Given the description of an element on the screen output the (x, y) to click on. 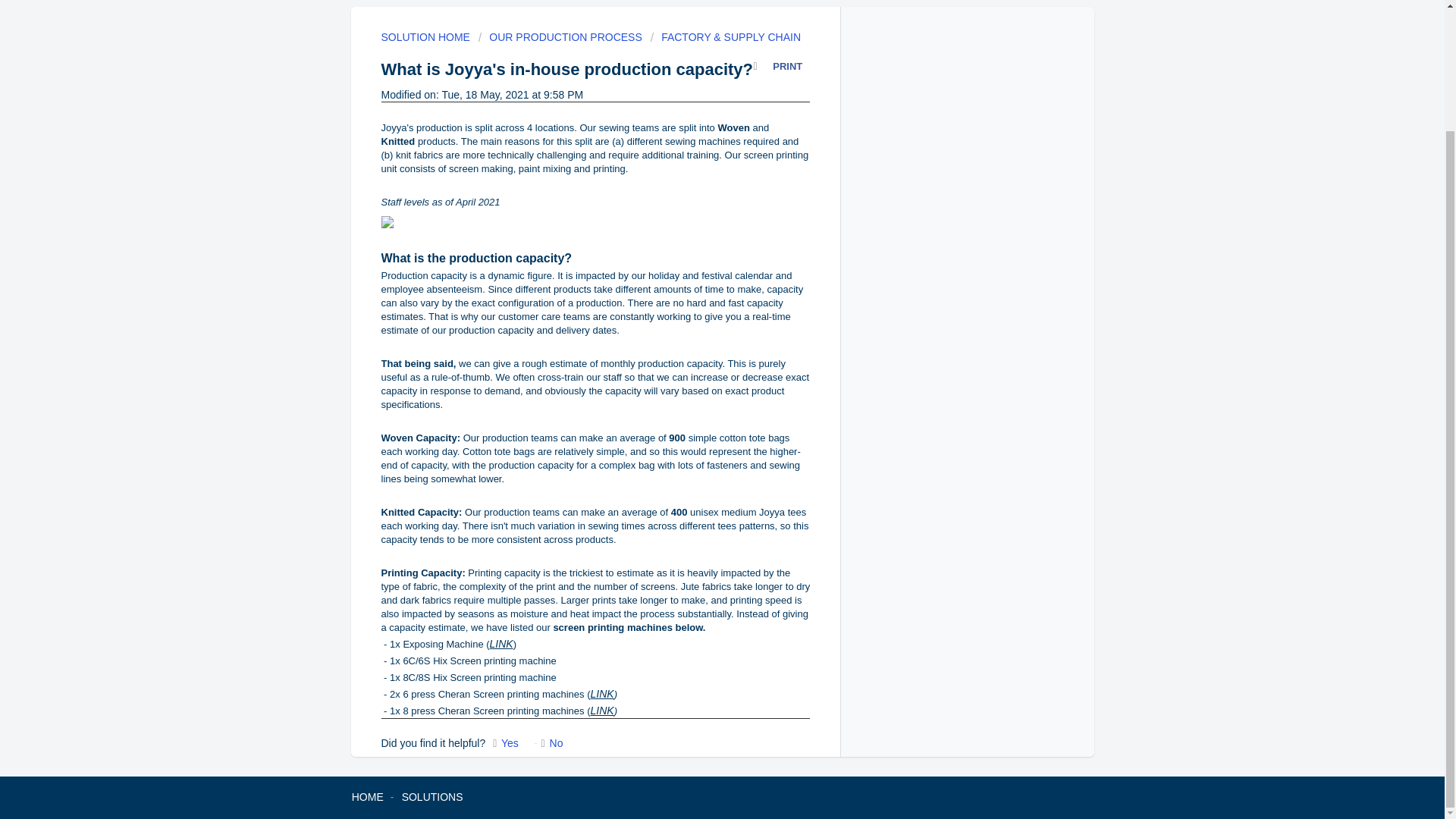
LINK (602, 710)
HOME (368, 797)
SOLUTION HOME (425, 37)
Print this Article (780, 68)
OUR PRODUCTION PROCESS (560, 37)
SOLUTIONS (432, 797)
PRINT (780, 68)
LINK (602, 693)
LINK (501, 644)
